Given the description of an element on the screen output the (x, y) to click on. 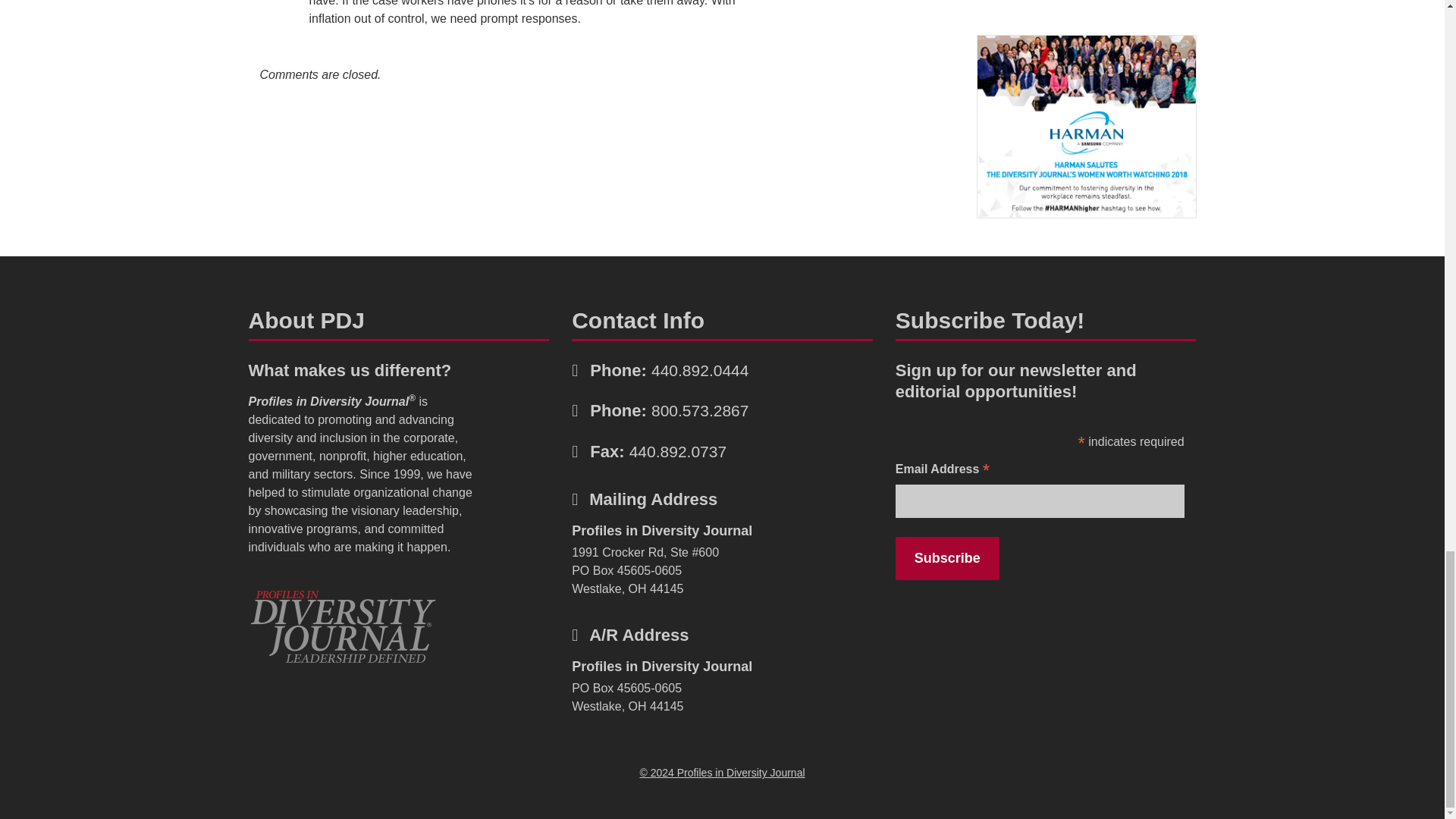
Subscribe (946, 558)
